Given the description of an element on the screen output the (x, y) to click on. 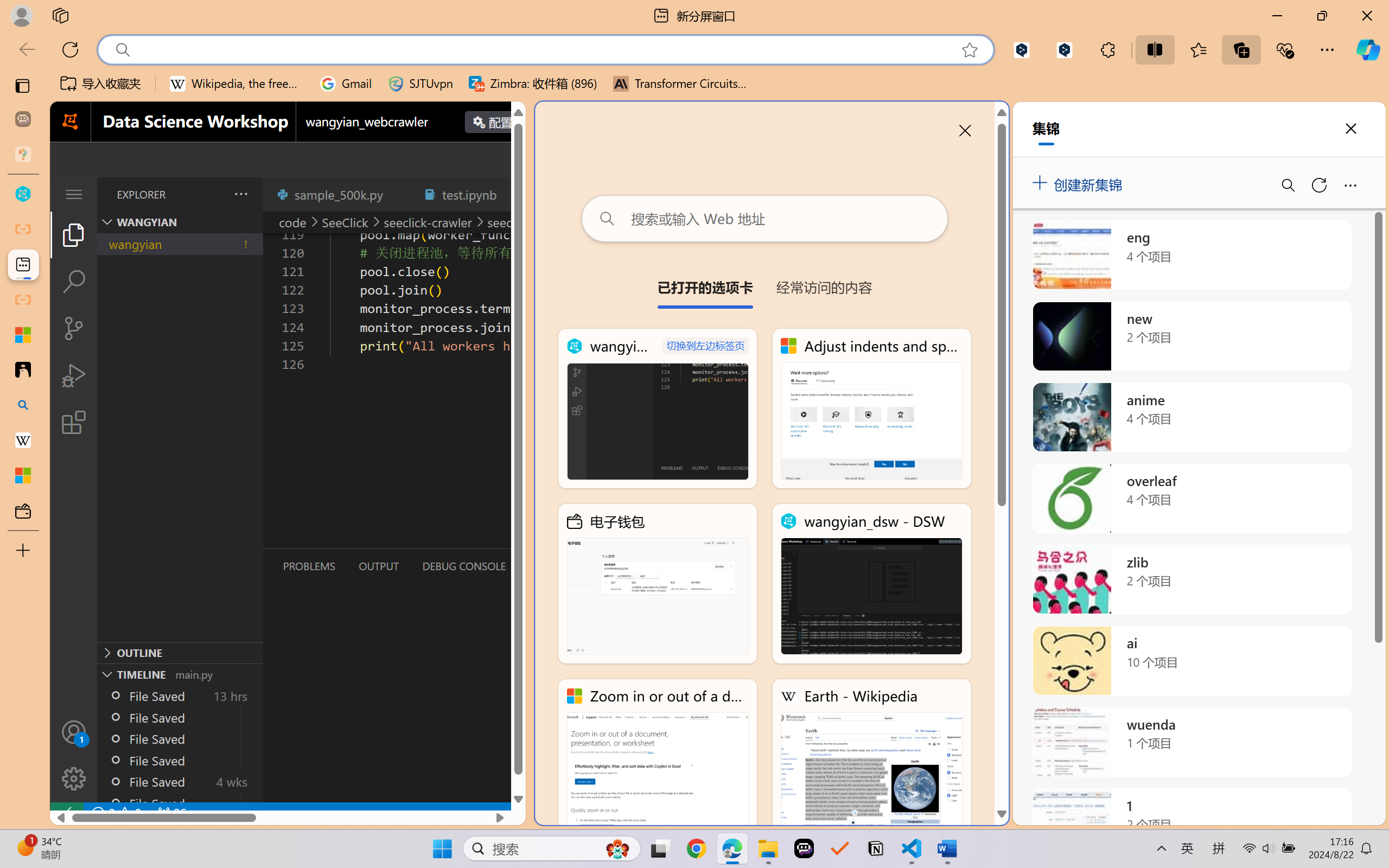
Adjust indents and spacing - Microsoft Support (22, 334)
SJTUvpn (419, 83)
